Given the description of an element on the screen output the (x, y) to click on. 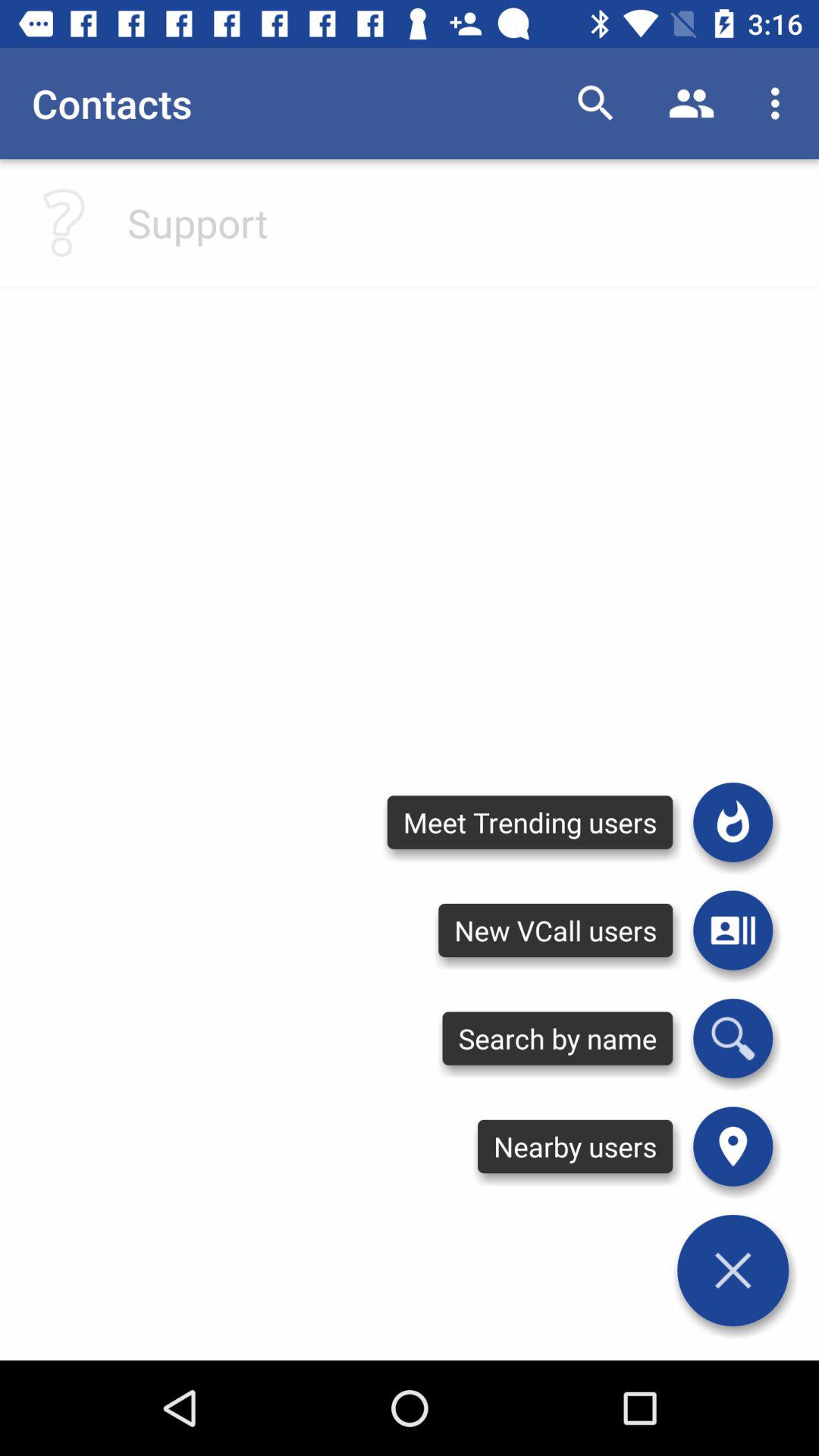
choose the new vcall users icon (555, 930)
